Given the description of an element on the screen output the (x, y) to click on. 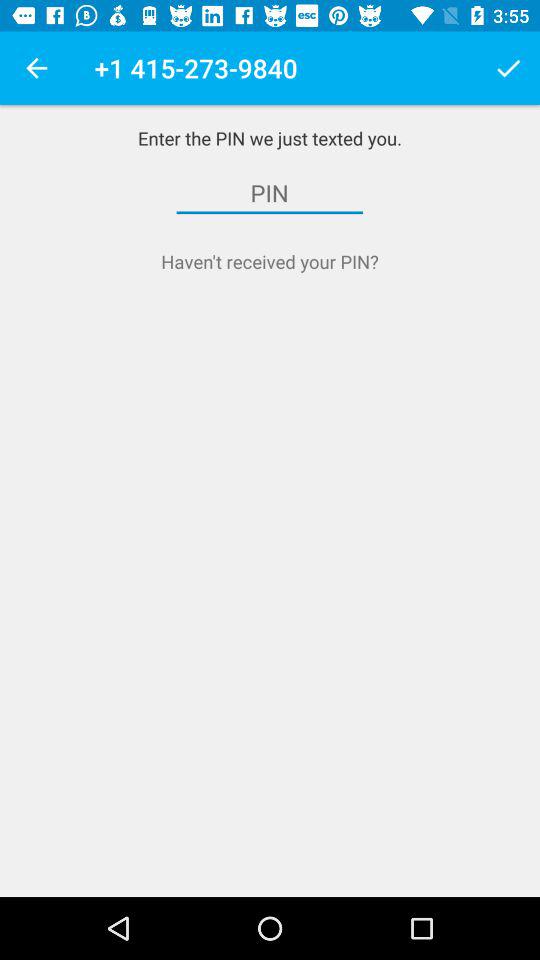
choose item to the left of 1 415 273 app (36, 68)
